Given the description of an element on the screen output the (x, y) to click on. 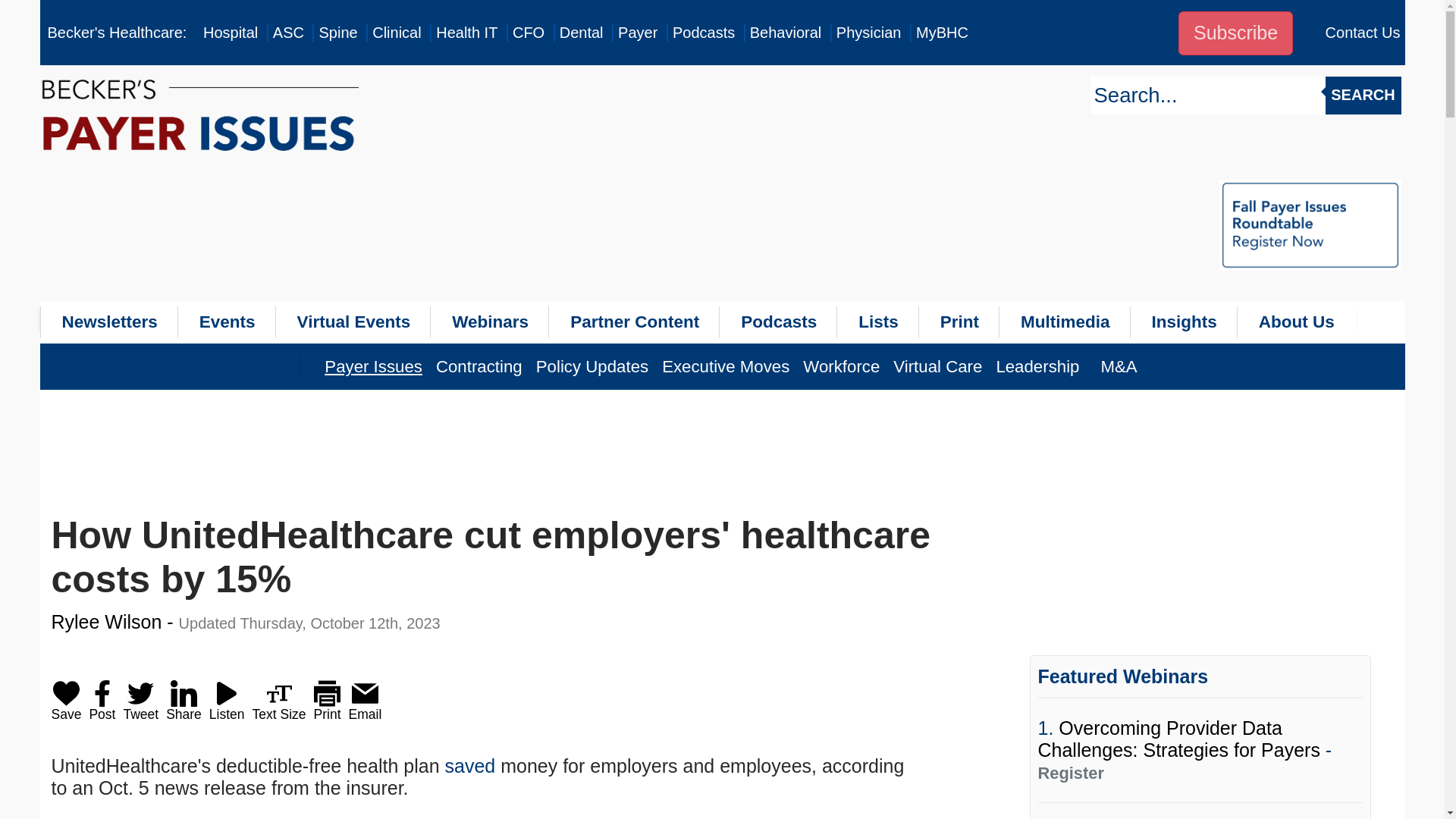
ASC (288, 32)
Hospital (230, 32)
Becker's Behavioral Health (785, 32)
CFO (528, 32)
SEARCH (1362, 95)
Becker's ASC Review (288, 32)
Becker's Dental Review (581, 32)
Clinical (396, 32)
Becker's CFO (528, 32)
Becker's Spine Review (337, 32)
